Given the description of an element on the screen output the (x, y) to click on. 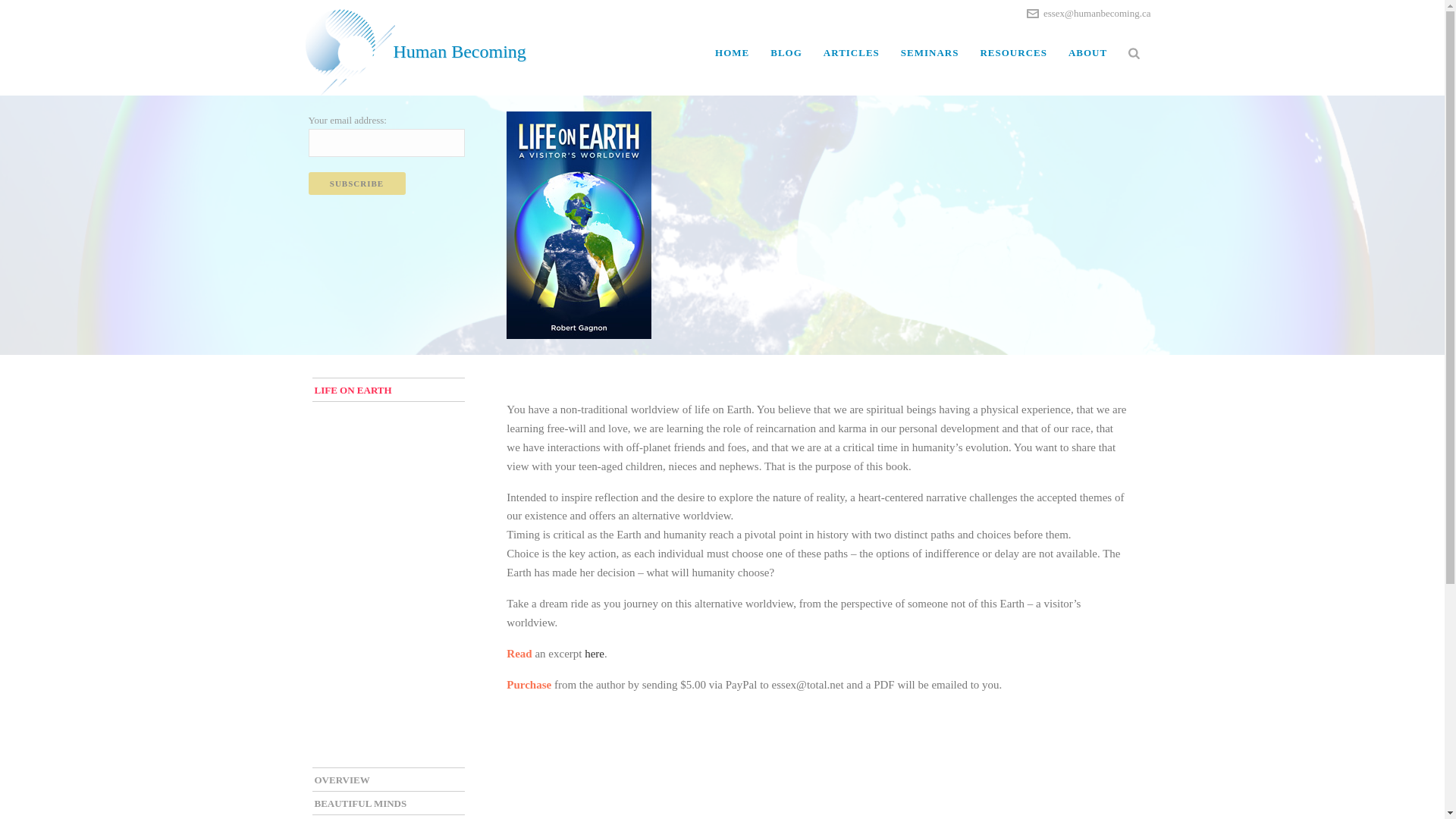
Human Becoming (414, 56)
RESOURCES (1013, 60)
Subscribe (355, 182)
SEMINARS (929, 60)
SEMINARS (929, 60)
RESOURCES (1013, 60)
ARTICLES (850, 60)
ARTICLES (850, 60)
